Given the description of an element on the screen output the (x, y) to click on. 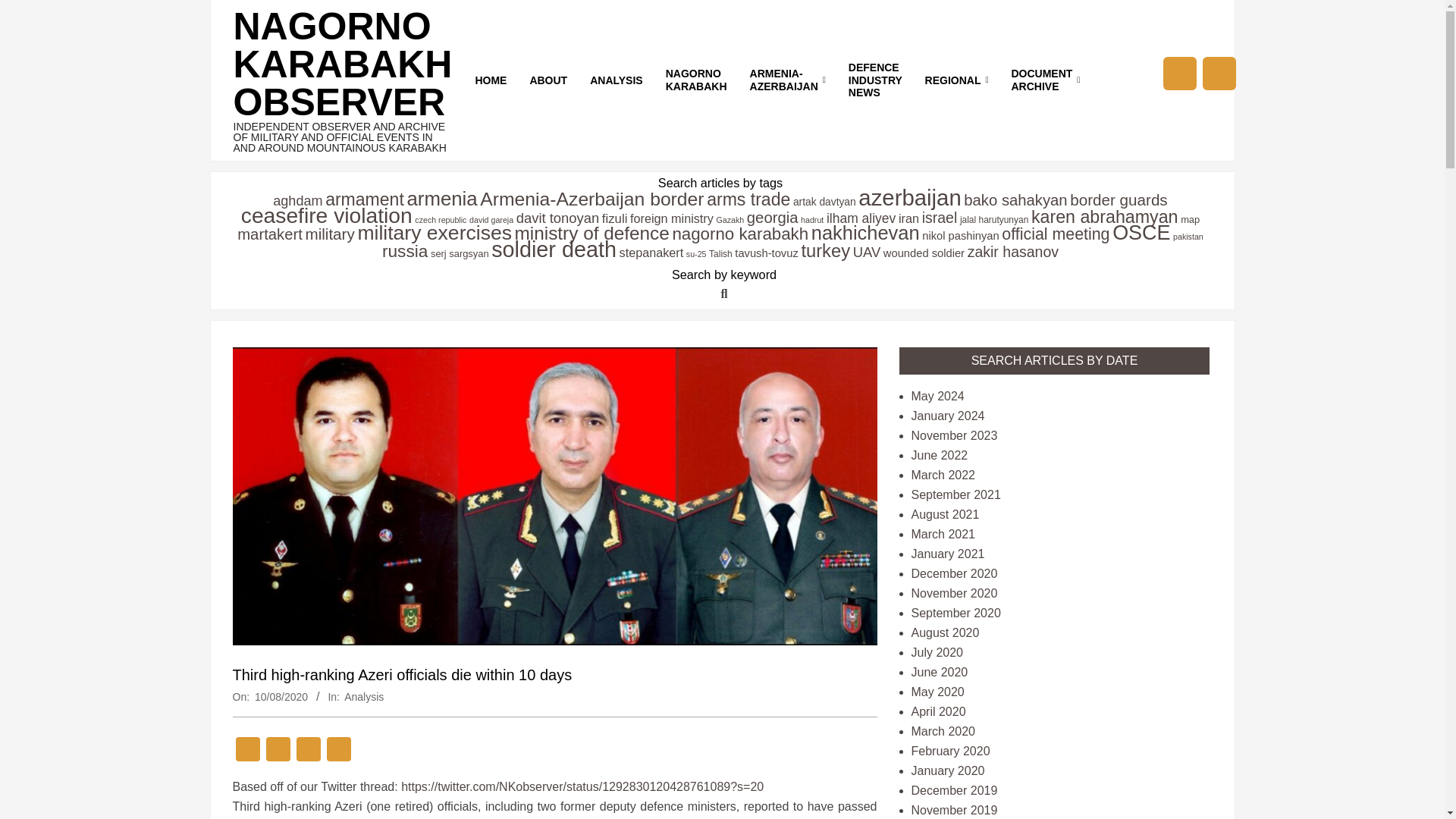
WhatsApp (338, 750)
DOCUMENT ARCHIVE (1044, 80)
NAGORNO KARABAKH OBSERVER (342, 63)
LinkedIn (307, 750)
armenia (441, 198)
HOME (490, 80)
Monday, August 10, 2020, 7:02 am (280, 696)
NAGORNO KARABAKH (695, 80)
ARMENIA-AZERBAIJAN (787, 80)
aghdam (297, 200)
Facebook (277, 750)
armament (364, 199)
DEFENCE INDUSTRY NEWS (875, 79)
ABOUT (548, 80)
REGIONAL (957, 80)
